Given the description of an element on the screen output the (x, y) to click on. 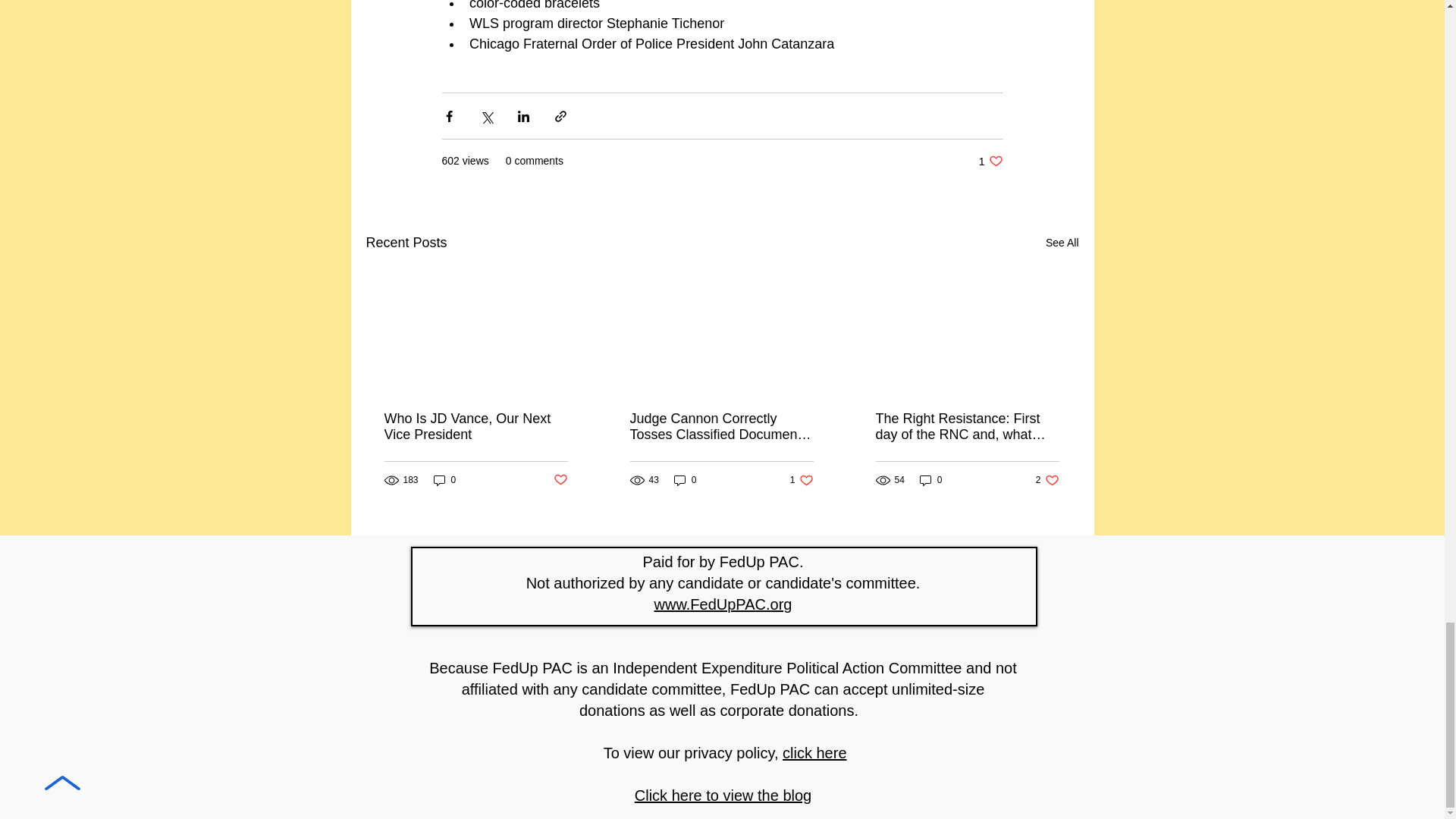
0 (990, 160)
Post not marked as liked (445, 480)
Who Is JD Vance, Our Next Vice President (801, 480)
See All (560, 480)
0 (475, 427)
